Given the description of an element on the screen output the (x, y) to click on. 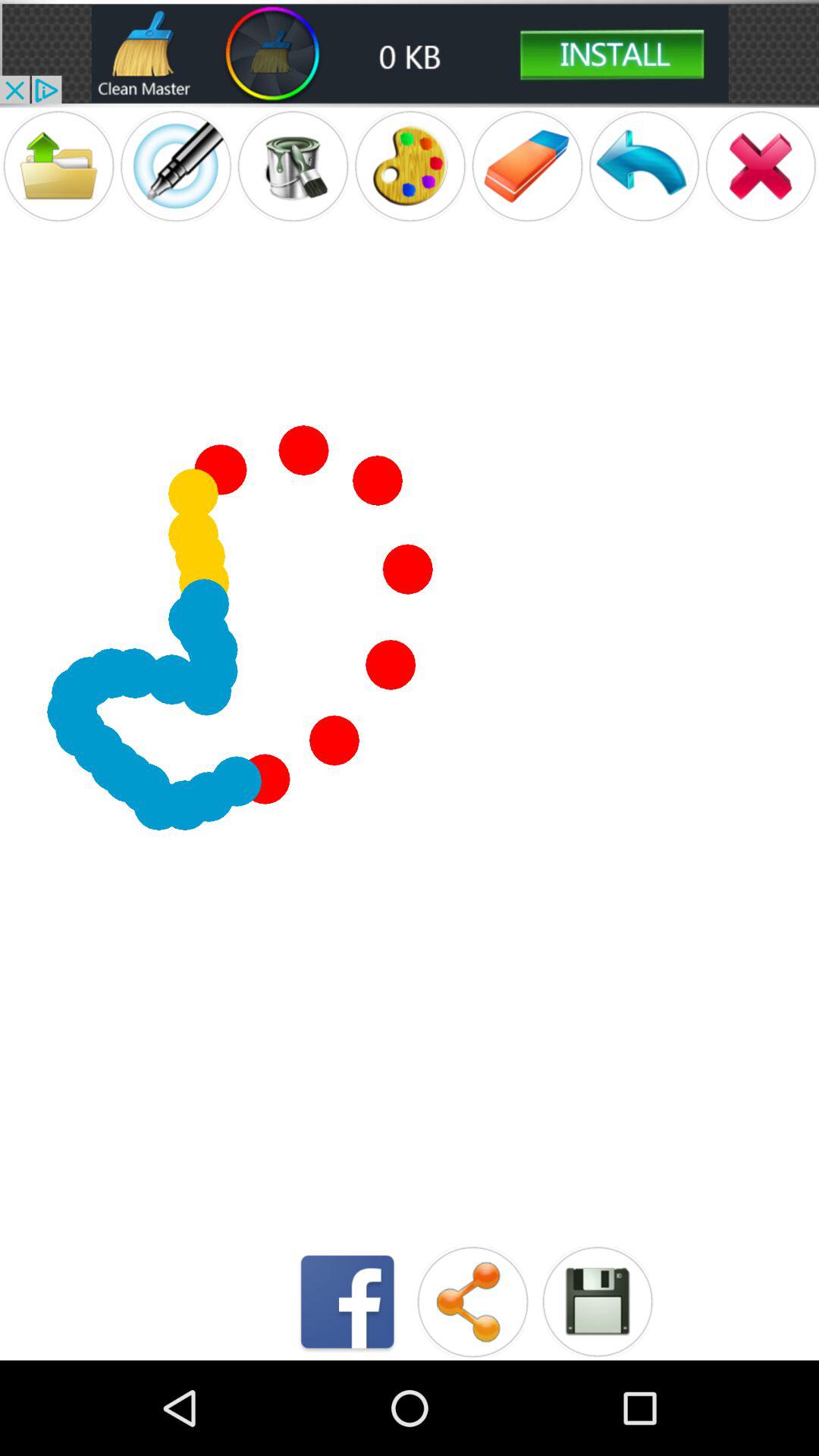
go to pen (175, 165)
